Given the description of an element on the screen output the (x, y) to click on. 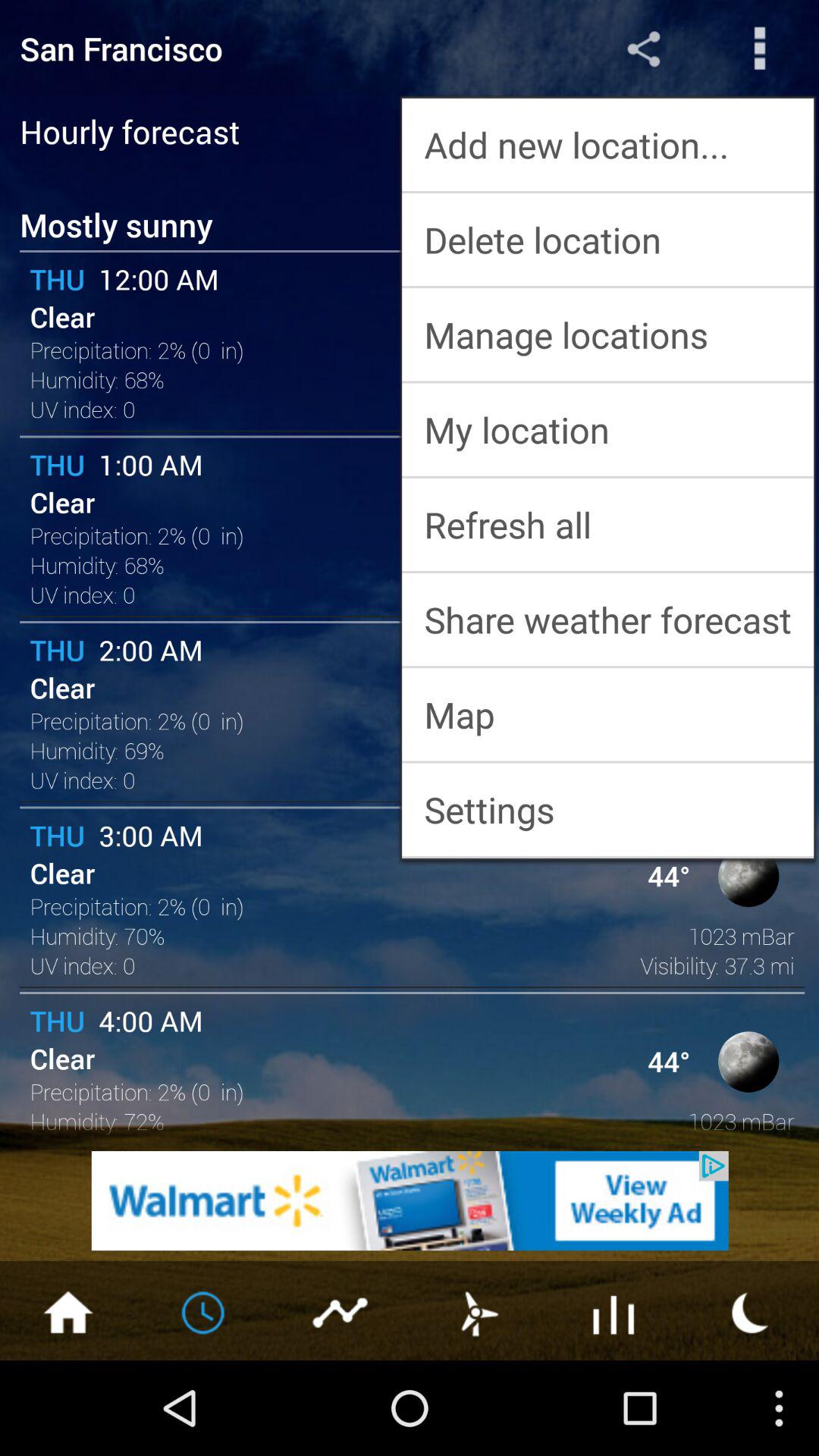
press manage locations icon (607, 334)
